Given the description of an element on the screen output the (x, y) to click on. 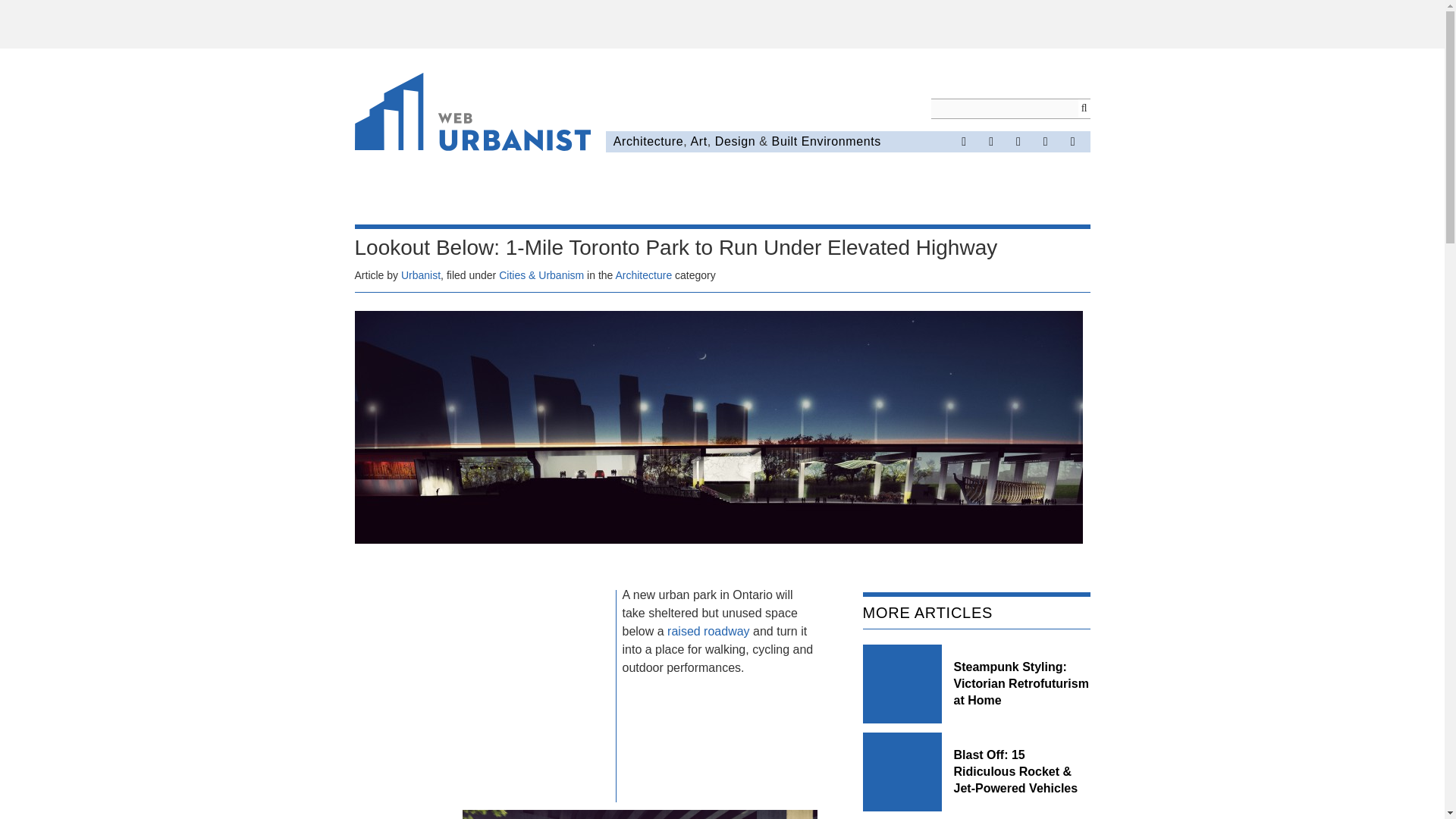
Subscribe to the RSS Feed! (1045, 141)
Design (734, 141)
Follow Us on Twitter! (990, 141)
Built (784, 141)
WebUrbanist (473, 114)
Architecture (642, 275)
Urbanist (421, 275)
Architecture (648, 141)
Environments (841, 141)
Art (698, 141)
